Given the description of an element on the screen output the (x, y) to click on. 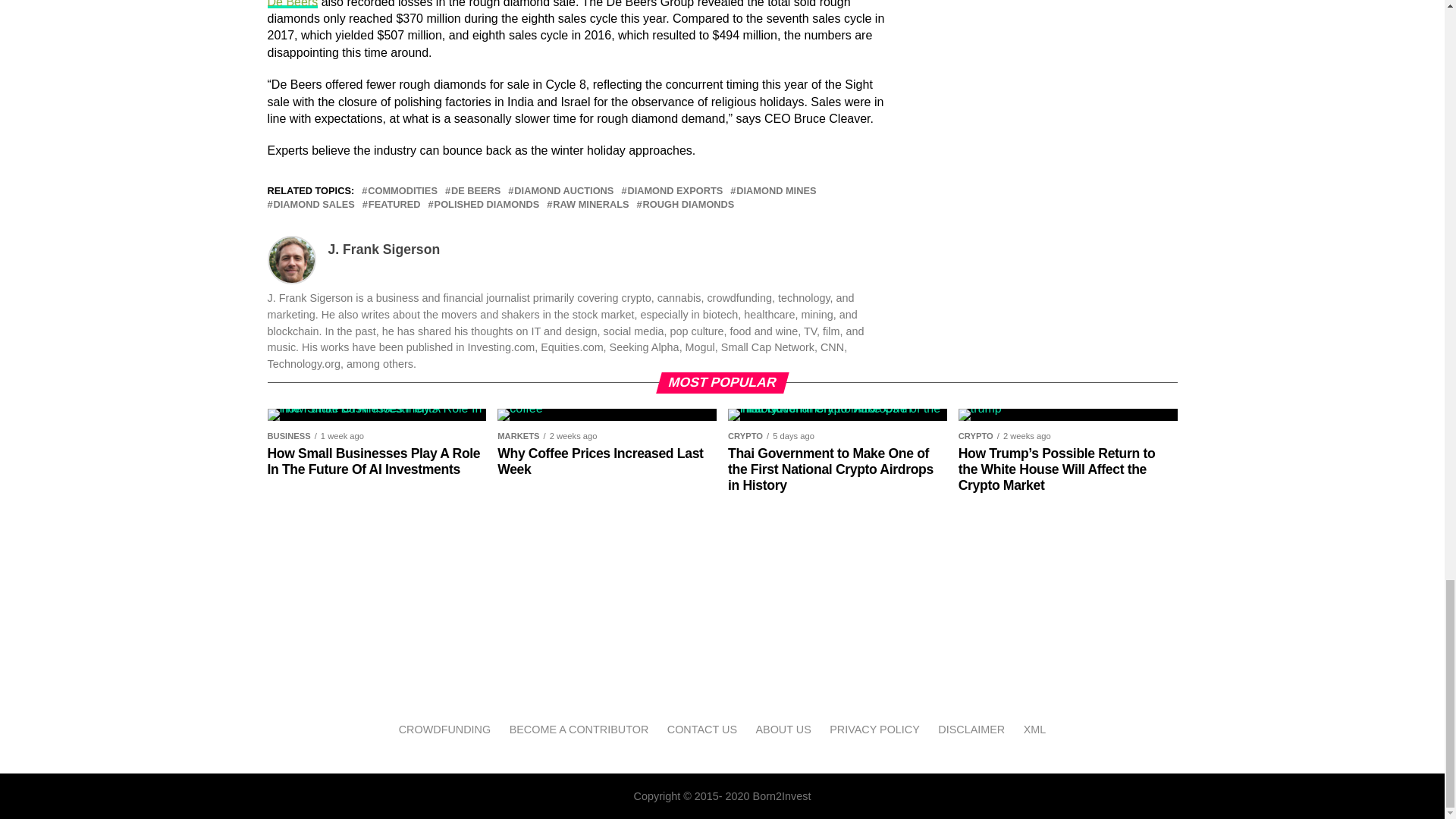
Posts by J. Frank Sigerson (383, 249)
De Beers (291, 4)
COMMODITIES (403, 191)
DE BEERS (475, 191)
